Given the description of an element on the screen output the (x, y) to click on. 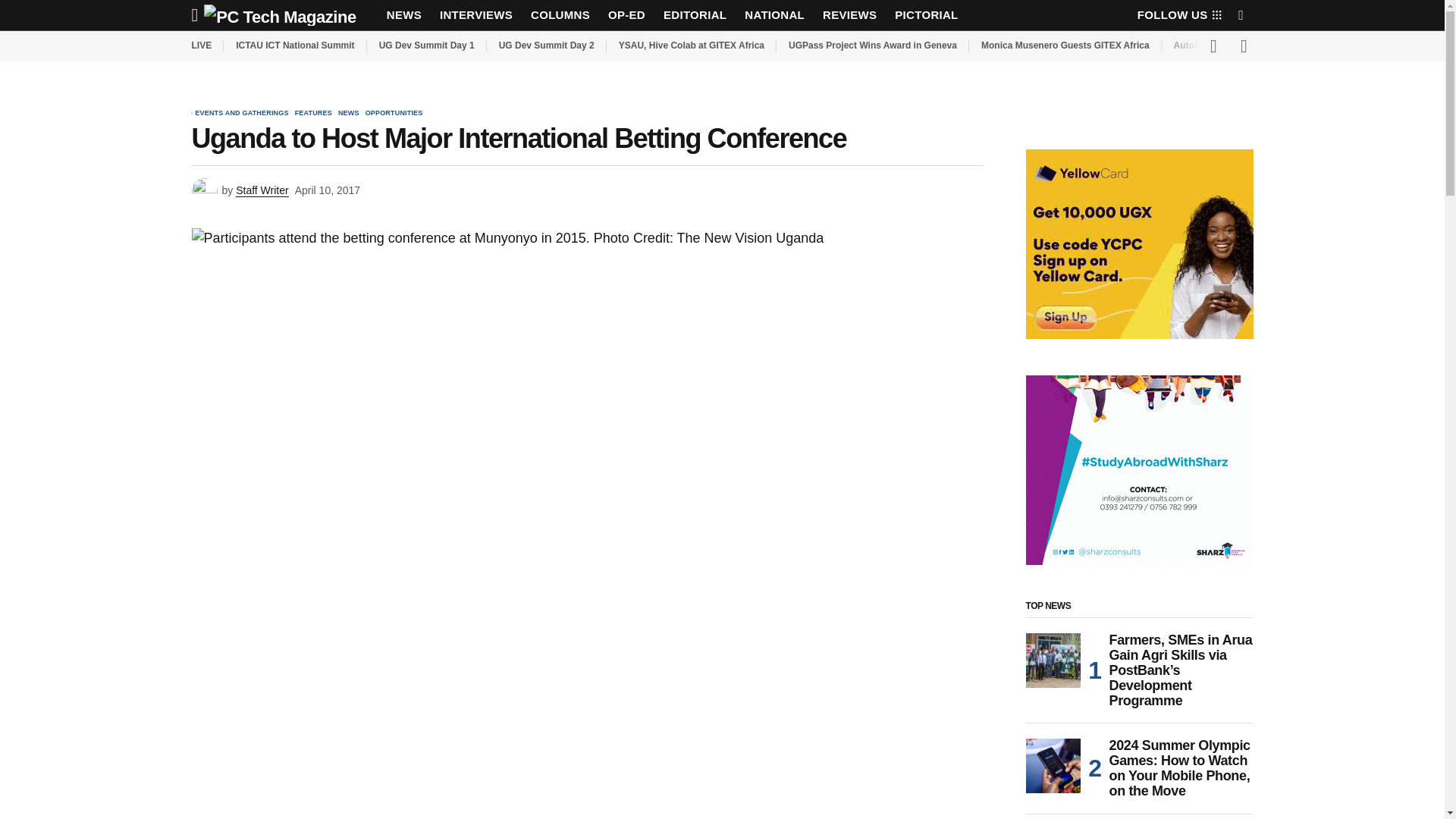
NEWS (403, 15)
COLUMNS (559, 15)
INTERVIEWS (475, 15)
